Given the description of an element on the screen output the (x, y) to click on. 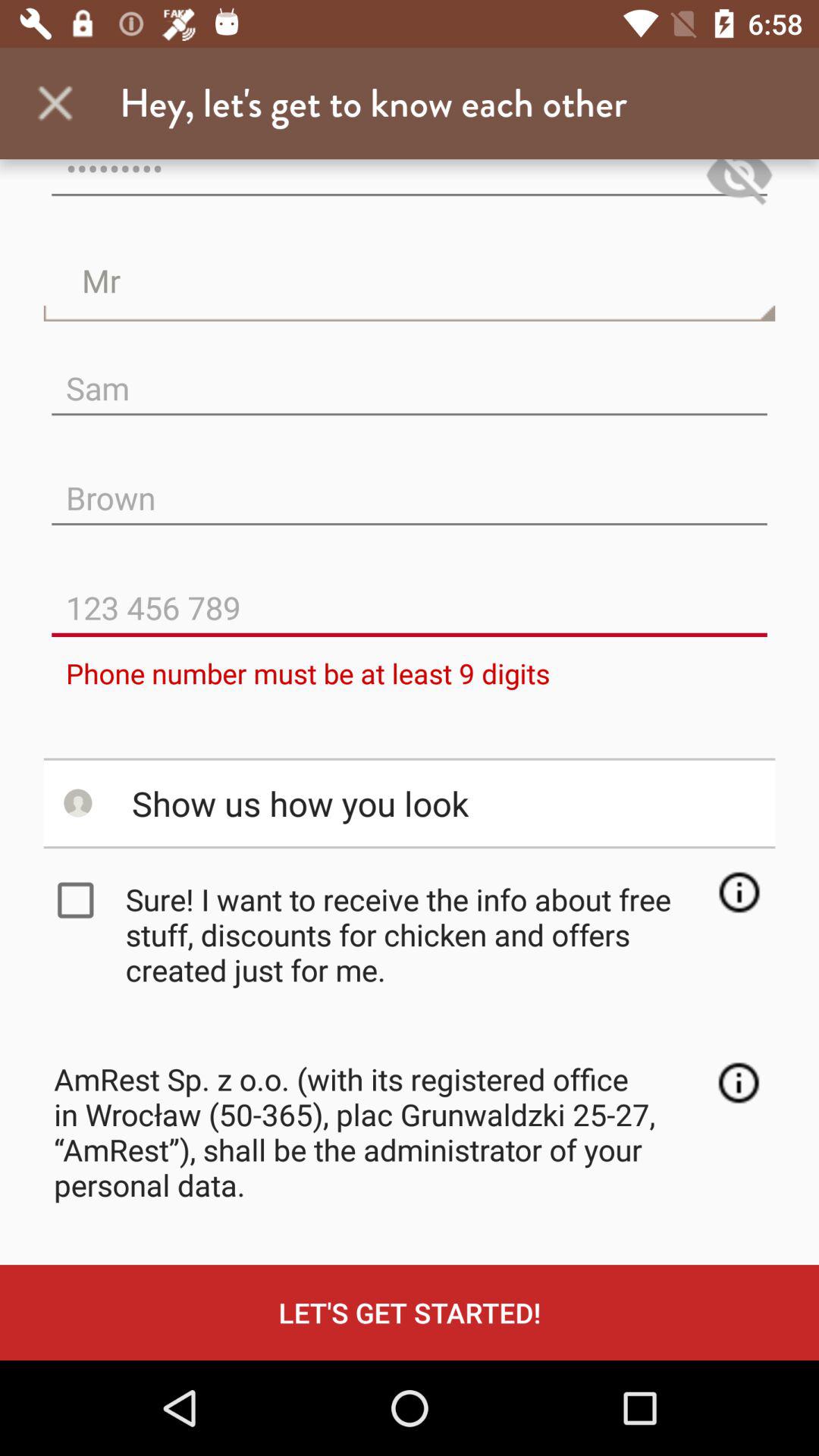
tap the sure i want icon (413, 934)
